Given the description of an element on the screen output the (x, y) to click on. 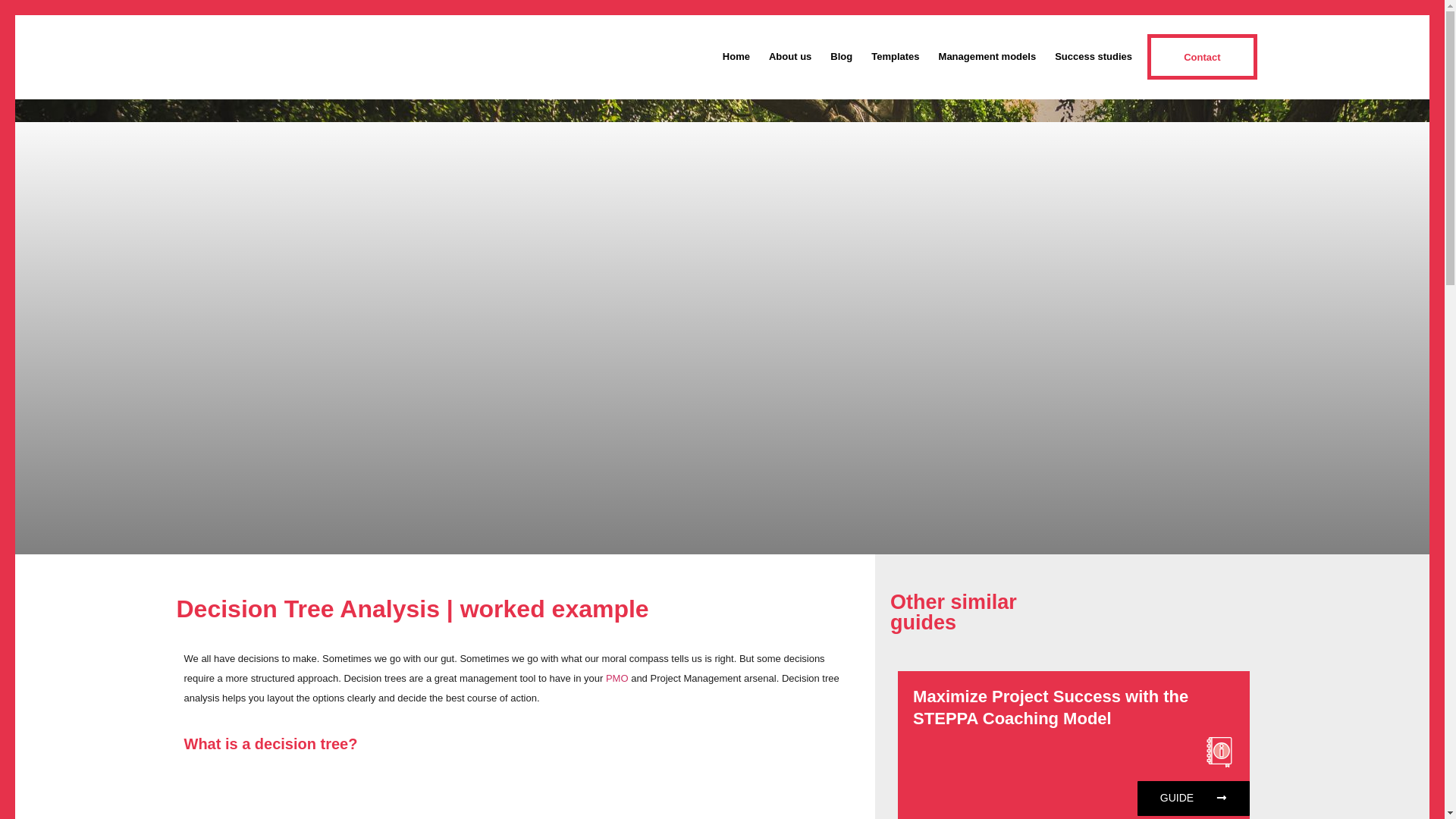
GUIDE (1193, 798)
Success studies (1093, 56)
Management models (987, 56)
Maximize Project Success with the STEPPA Coaching Model (1050, 707)
PMO (617, 677)
About us (789, 56)
Templates (894, 56)
Contact (1202, 56)
